Given the description of an element on the screen output the (x, y) to click on. 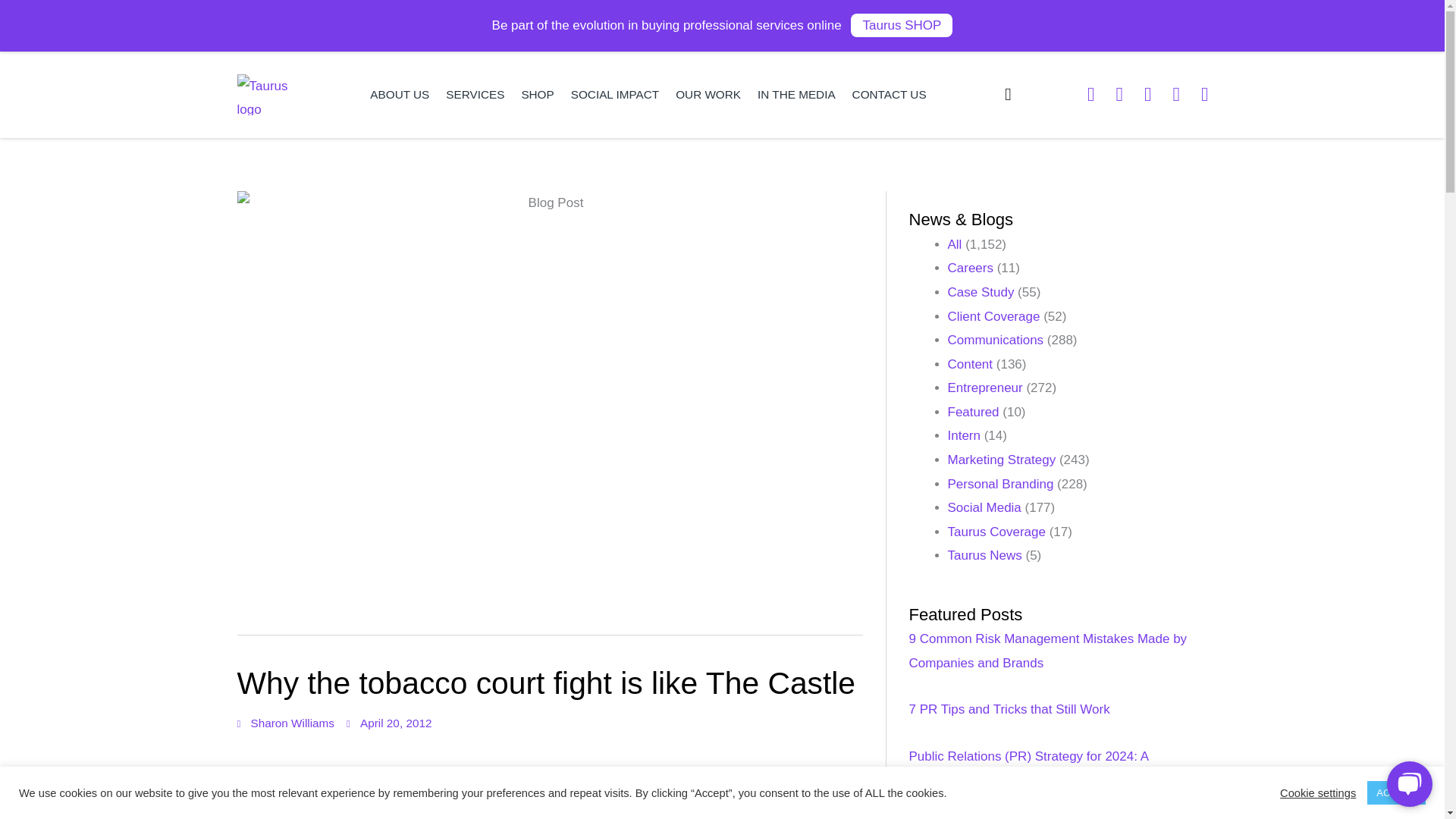
OUR WORK (707, 94)
IN THE MEDIA (796, 94)
SHOP (537, 94)
SOCIAL IMPACT (614, 94)
CONTACT US (889, 94)
Taurus SHOP (901, 24)
SERVICES (475, 94)
ABOUT US (399, 94)
